Given the description of an element on the screen output the (x, y) to click on. 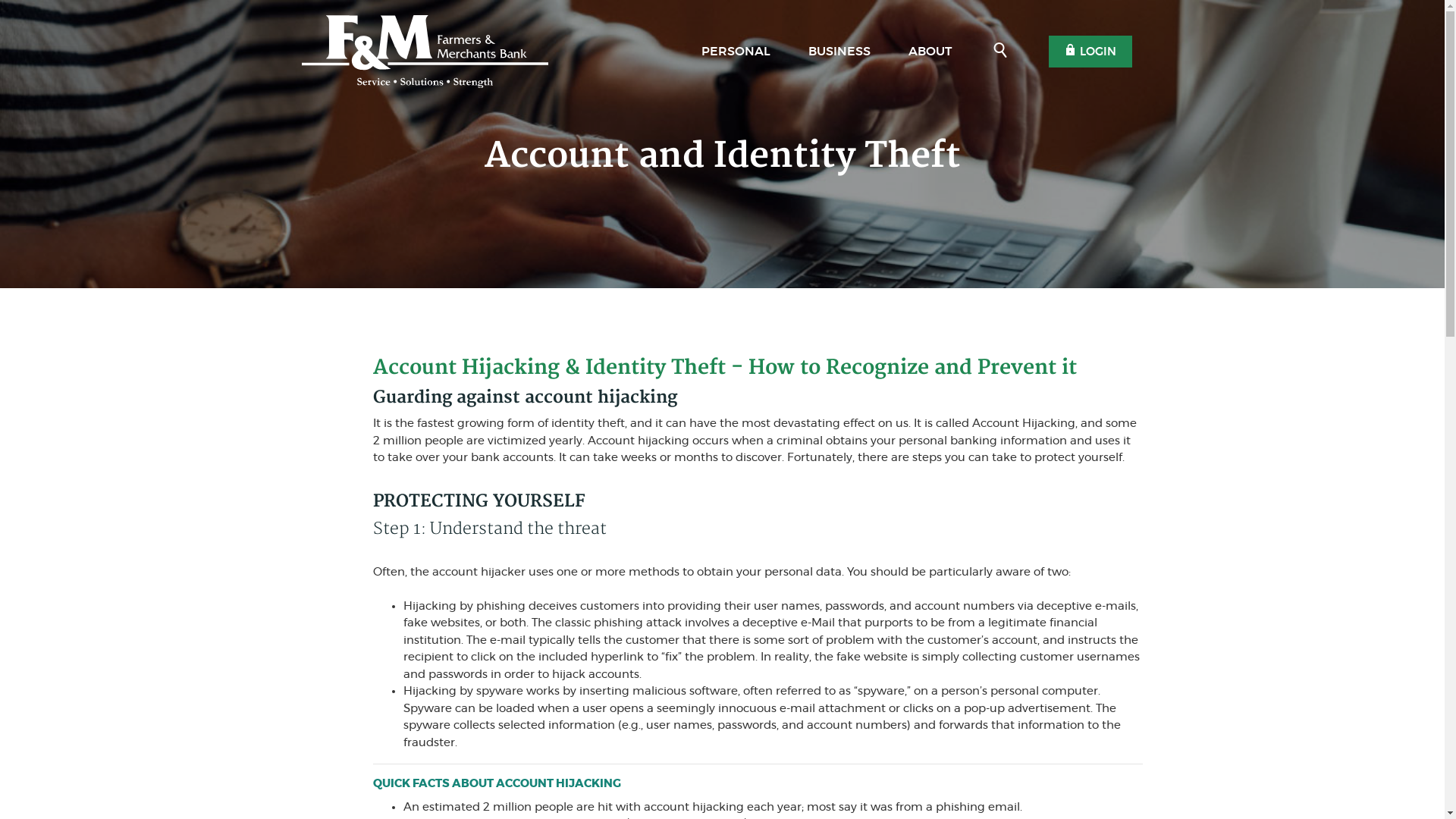
LOGIN
OPEN OLB Element type: text (1089, 51)
Farmers & Merchants Bank, Piedmont, AL Element type: hover (424, 51)
Open Search Element type: text (999, 50)
